Given the description of an element on the screen output the (x, y) to click on. 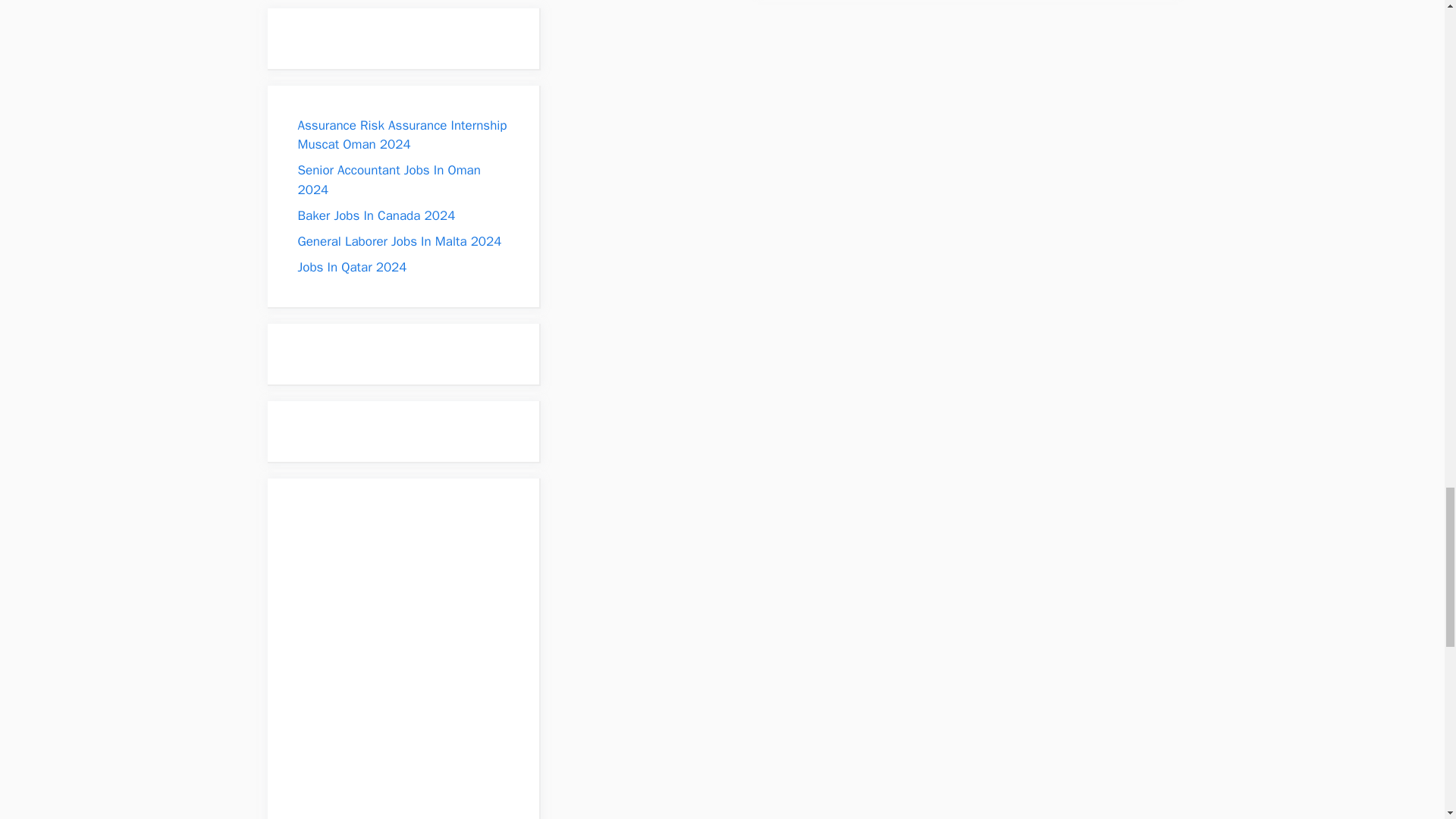
General Laborer Jobs In Malta 2024 (398, 241)
Senior Accountant Jobs In Oman 2024 (388, 180)
Assurance Risk Assurance Internship Muscat Oman 2024 (401, 135)
Baker Jobs In Canada 2024 (375, 215)
Jobs In Qatar 2024 (351, 267)
